Given the description of an element on the screen output the (x, y) to click on. 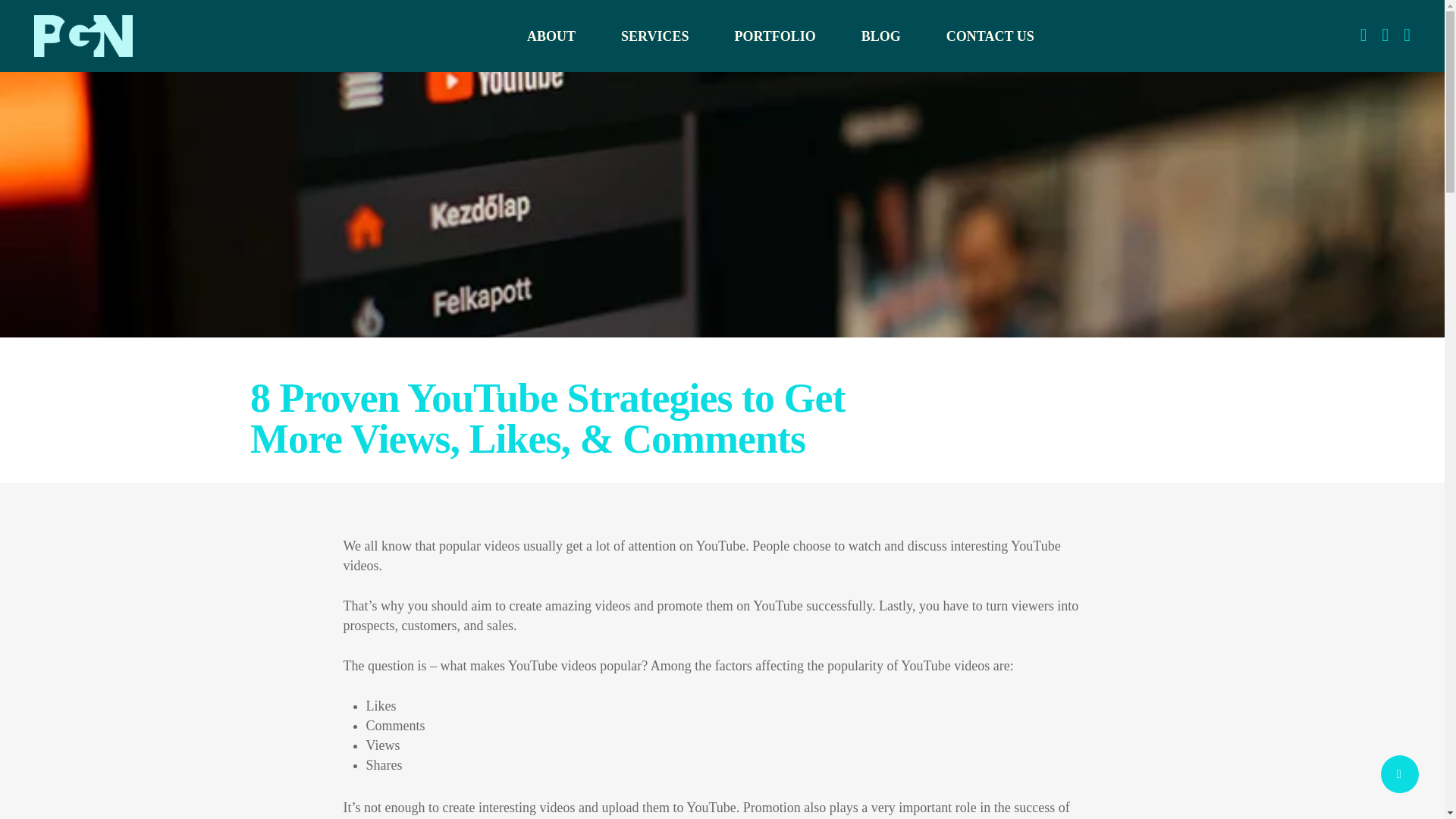
PORTFOLIO (774, 36)
BLOG (880, 36)
PGN Agency (308, 472)
Posts by PGN Agency (308, 472)
Social Media (508, 472)
CONTACT US (990, 36)
ABOUT (551, 36)
SERVICES (653, 36)
